Given the description of an element on the screen output the (x, y) to click on. 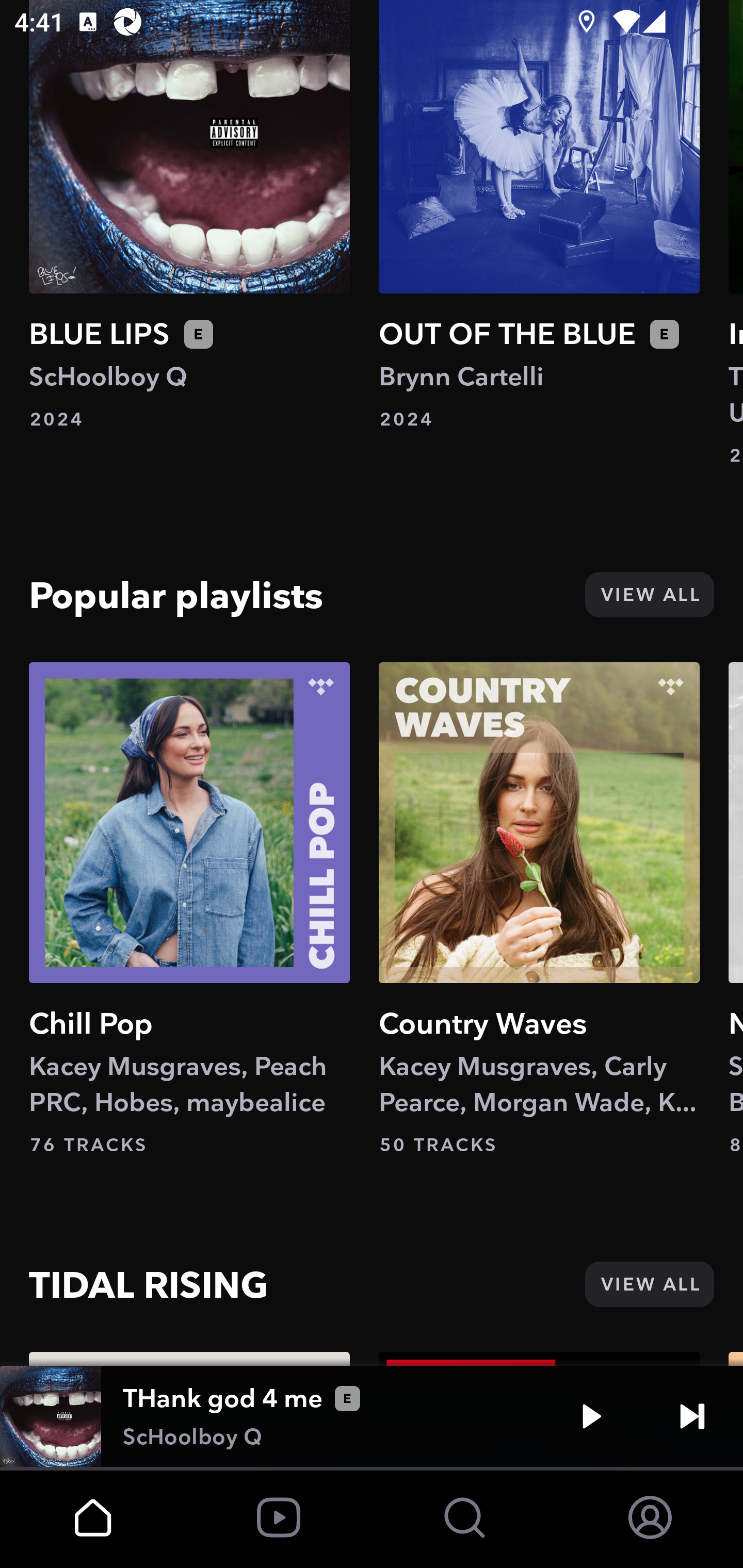
BLUE LIPS ScHoolboy Q 2024 (188, 215)
OUT OF THE BLUE Brynn Cartelli 2024 (538, 215)
VIEW ALL (649, 594)
VIEW ALL (649, 1284)
THank god 4 me    ScHoolboy Q Play (371, 1416)
Play (590, 1416)
